Given the description of an element on the screen output the (x, y) to click on. 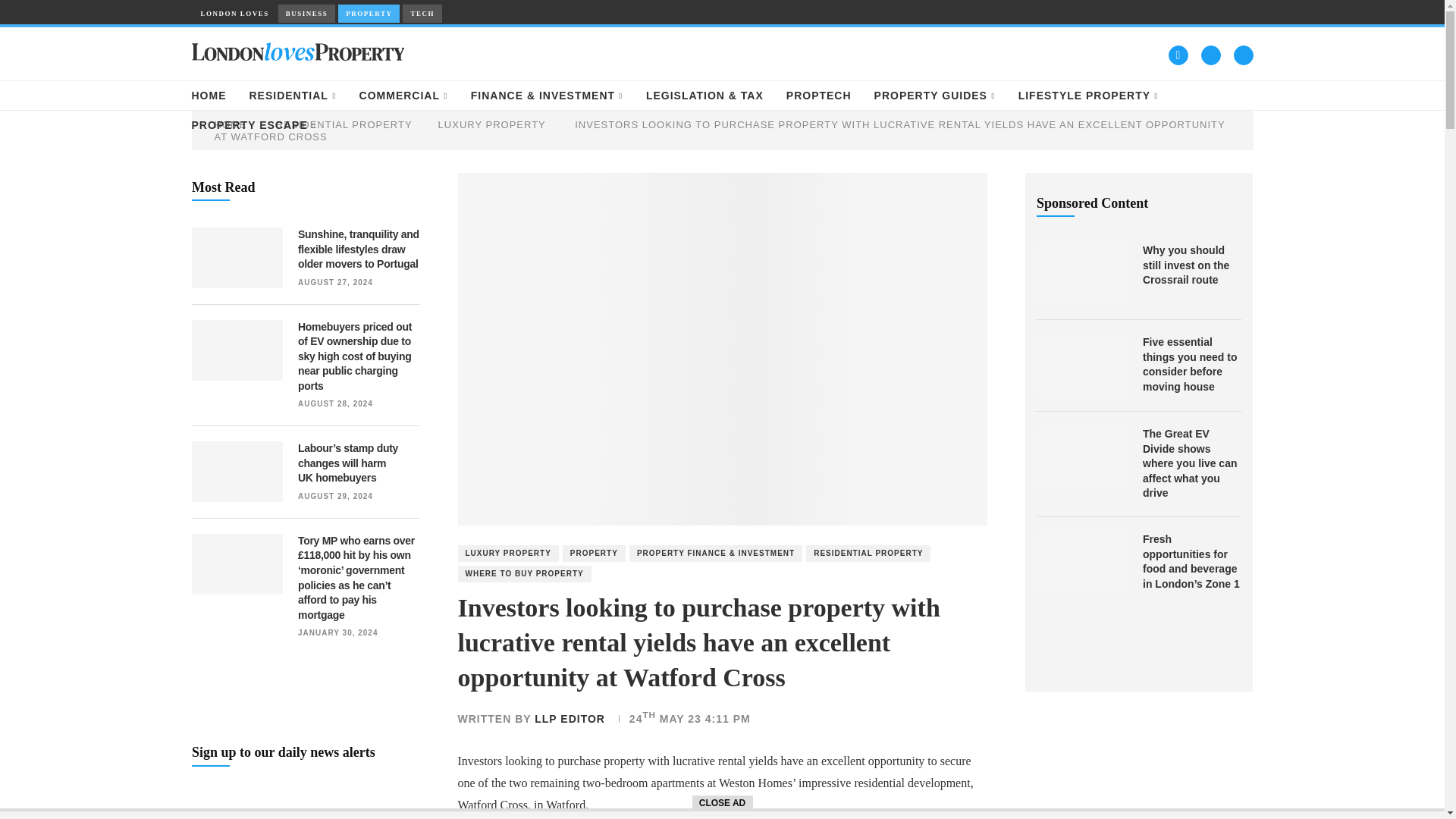
Why you should still invest on the Crossrail route (1081, 273)
PROPERTY (367, 13)
TECH (422, 13)
